Given the description of an element on the screen output the (x, y) to click on. 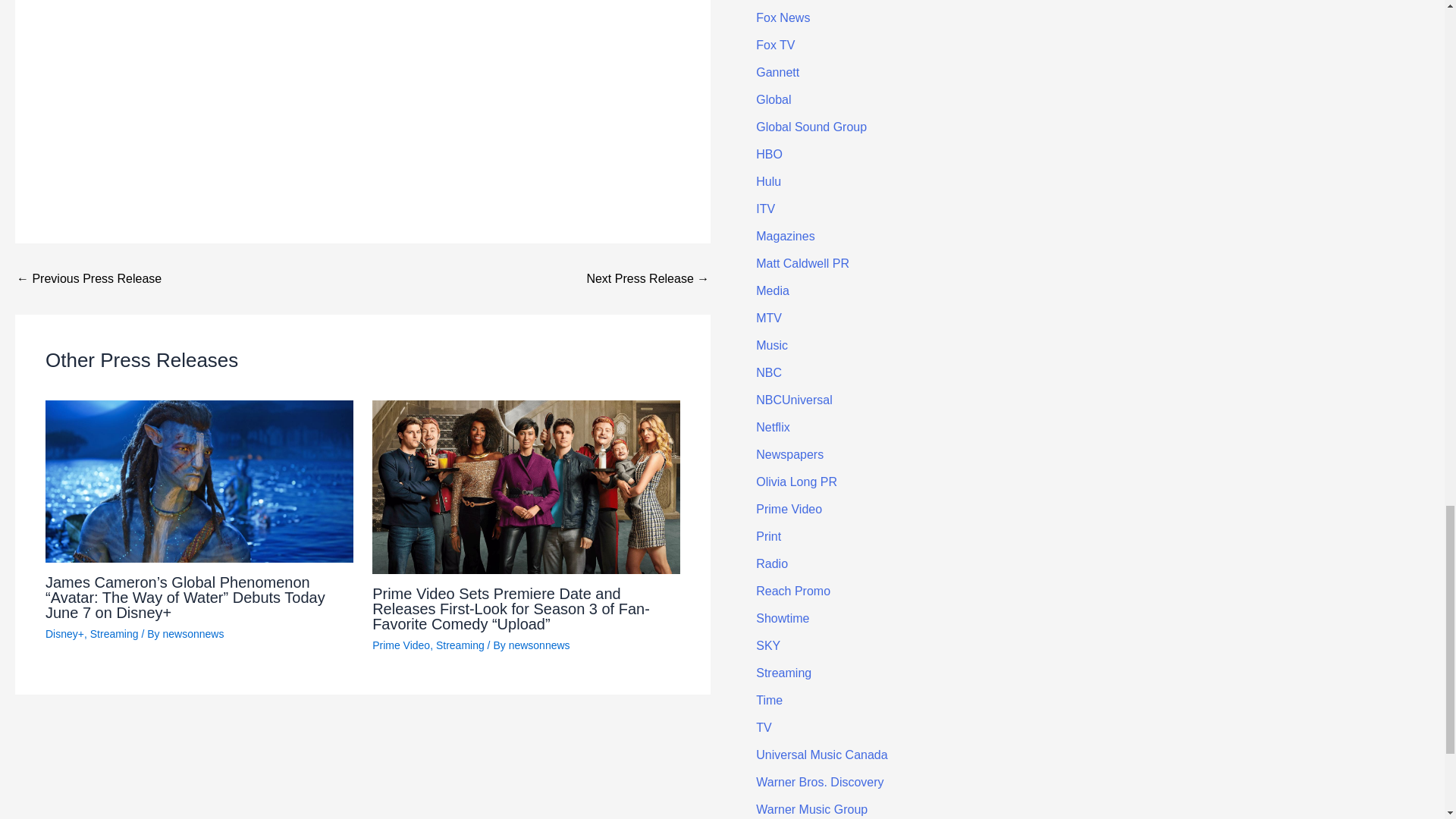
View all posts by newsonnews (539, 645)
View all posts by newsonnews (192, 633)
Discovey Naked and Afraid Castaways (363, 79)
